Given the description of an element on the screen output the (x, y) to click on. 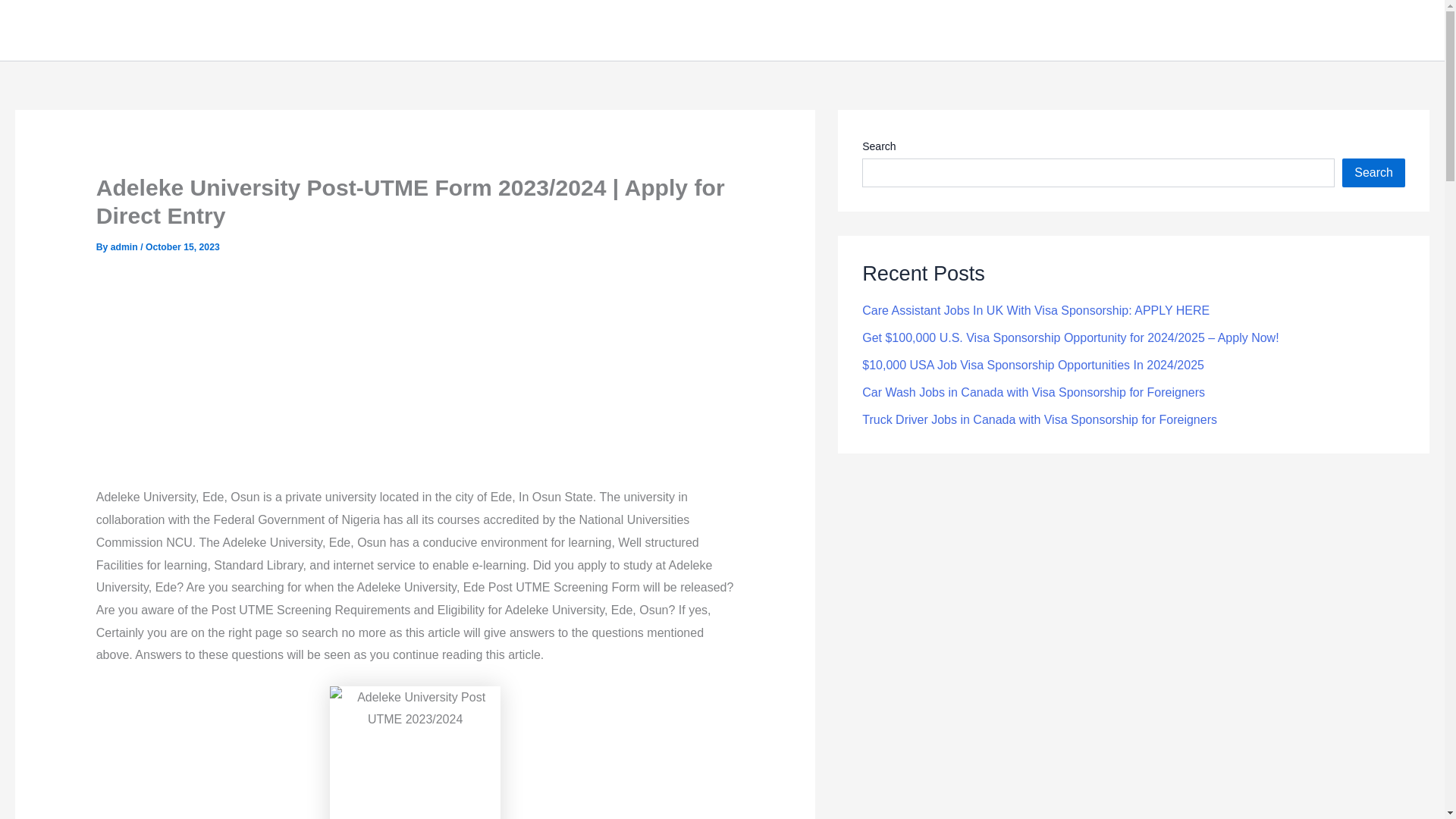
Care Assistant Jobs In UK With Visa Sponsorship: APPLY HERE (1035, 309)
Home (1179, 30)
Search (1373, 172)
About (1235, 30)
View all posts by admin (124, 246)
Contact (1296, 30)
Car Wash Jobs in Canada with Visa Sponsorship for Foreigners (1033, 391)
Privacy Policy (1379, 30)
admin (124, 246)
Sure School News (90, 29)
